Given the description of an element on the screen output the (x, y) to click on. 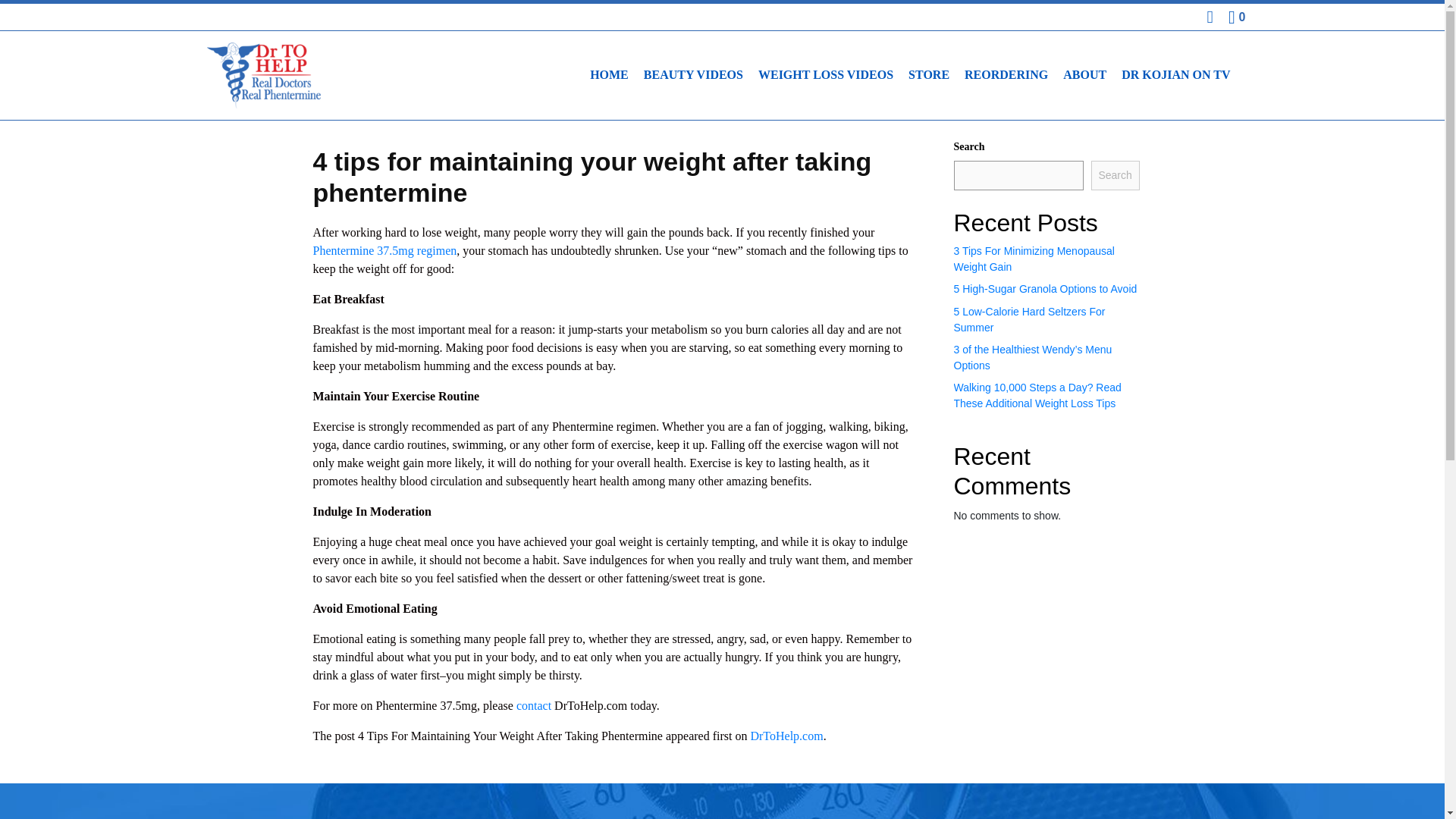
DrToHelp.com (785, 735)
DR KOJIAN ON TV (1175, 74)
HOME (609, 74)
Search (1115, 175)
0 (1236, 17)
5 High-Sugar Granola Options to Avoid (1045, 288)
contact (533, 705)
3 Tips For Minimizing Menopausal Weight Gain (1034, 258)
5 Low-Calorie Hard Seltzers For Summer (1029, 319)
REORDERING (1005, 74)
STORE (928, 74)
ABOUT (1084, 74)
Phentermine 37.5mg regimen (385, 250)
WEIGHT LOSS VIDEOS (826, 74)
